Given the description of an element on the screen output the (x, y) to click on. 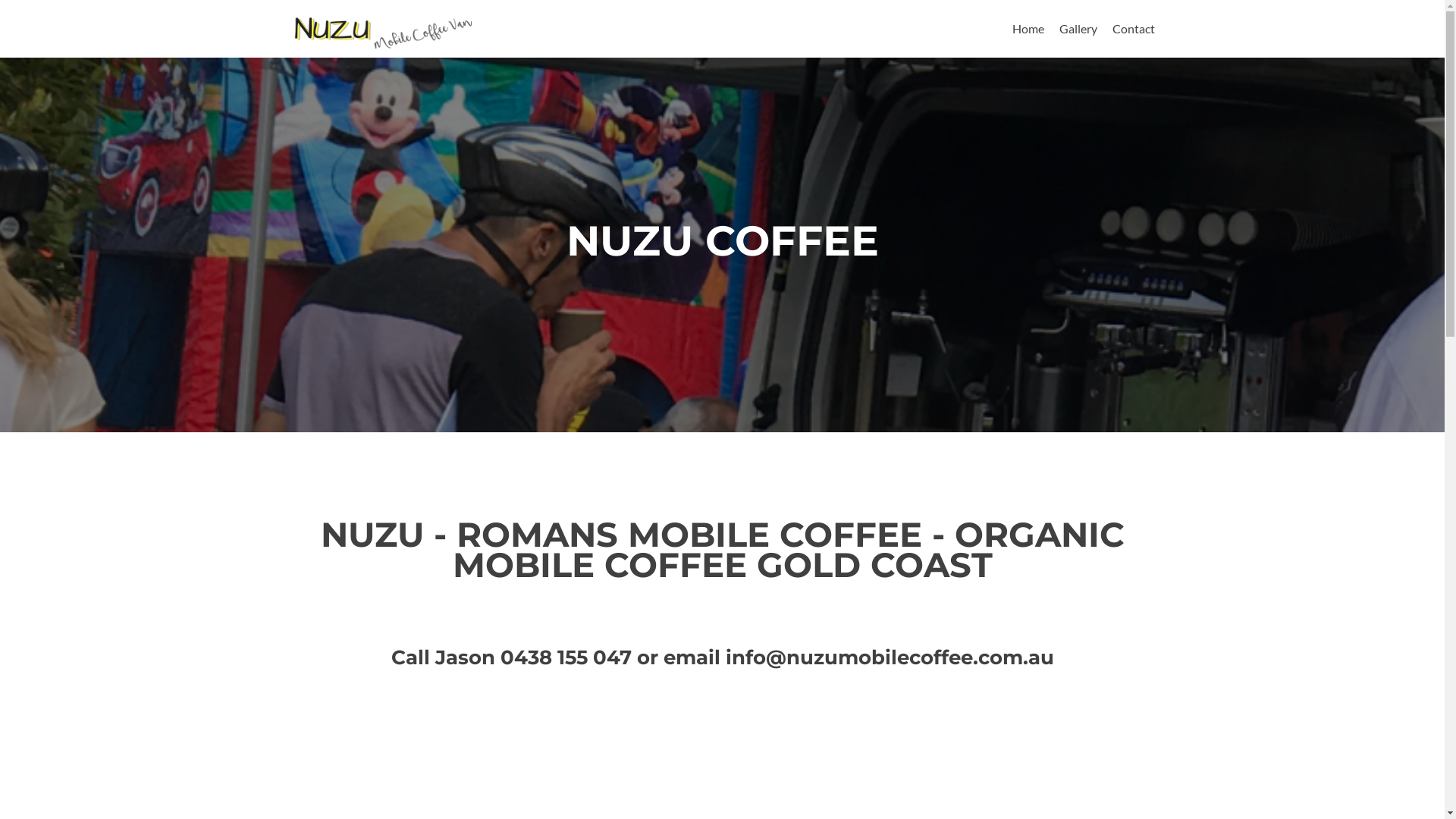
Home Element type: text (1027, 28)
Gallery Element type: text (1077, 28)
Contact Element type: text (1132, 28)
